Given the description of an element on the screen output the (x, y) to click on. 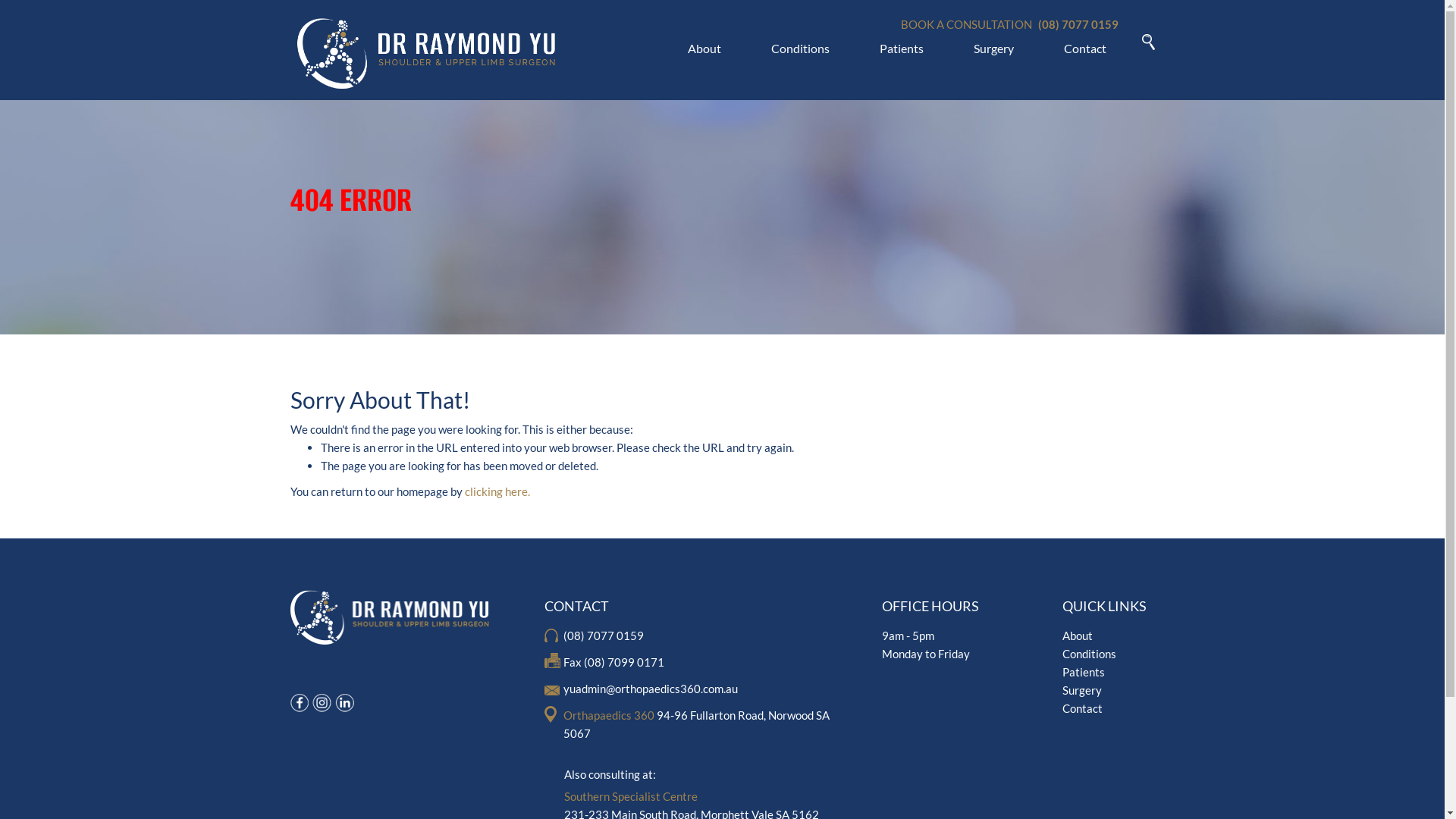
(08) 7077 0159 Element type: text (1076, 24)
yuadmin@orthopaedics360.com.au Element type: text (640, 688)
Patients Element type: text (903, 48)
Surgery Element type: text (1081, 689)
Contact Element type: text (1081, 708)
Conditions Element type: text (801, 48)
Conditions Element type: text (1088, 653)
Surgery Element type: text (995, 48)
Contact Element type: text (1084, 48)
clicking here. Element type: text (496, 491)
(08) 7077 0159 Element type: text (593, 635)
About Element type: text (705, 48)
Patients Element type: text (1082, 671)
About Element type: text (1076, 635)
